Given the description of an element on the screen output the (x, y) to click on. 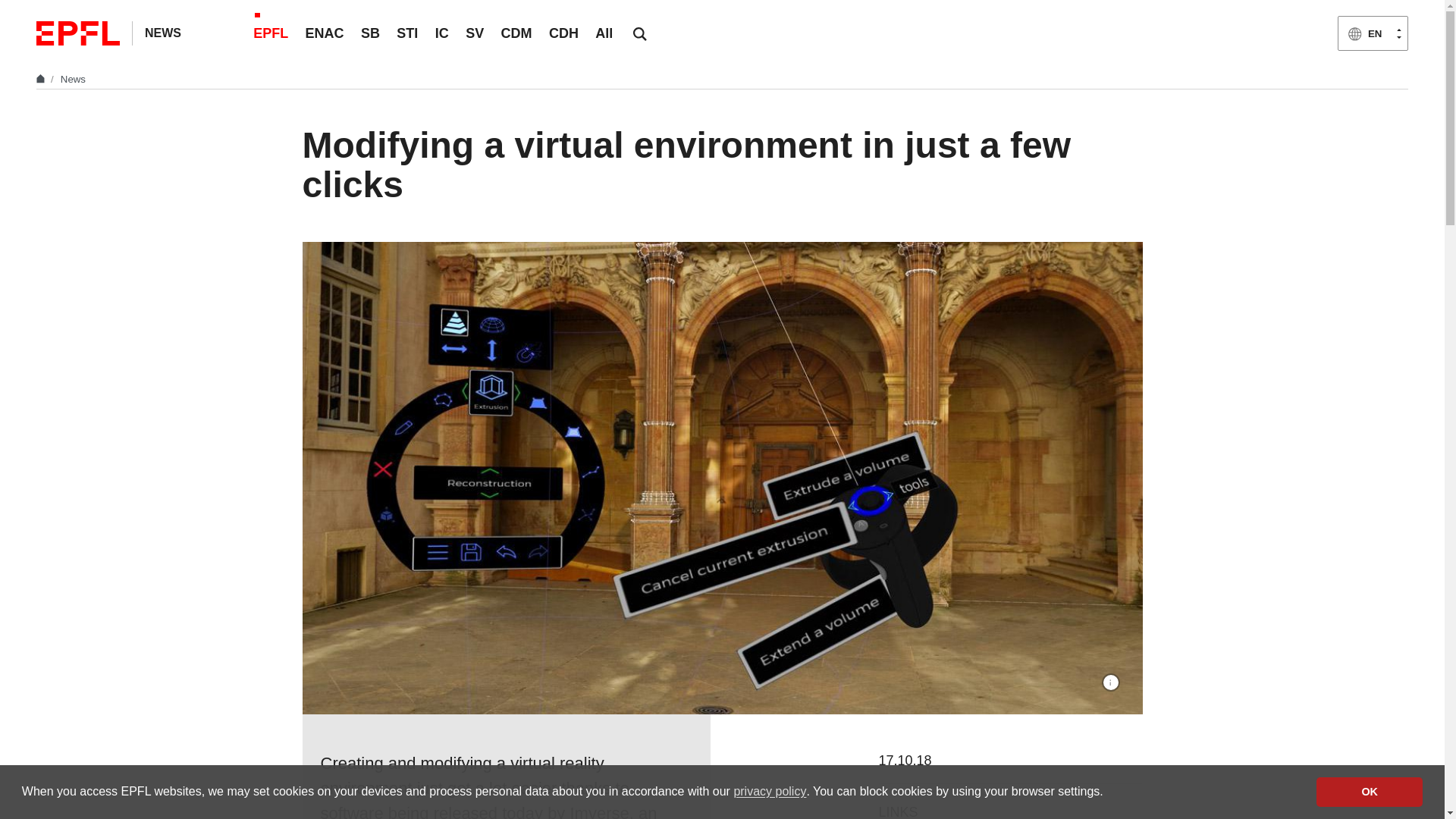
privacy policy (769, 791)
OK (1369, 791)
NEWS (162, 32)
EN (1372, 32)
Home (42, 79)
News (73, 79)
